Given the description of an element on the screen output the (x, y) to click on. 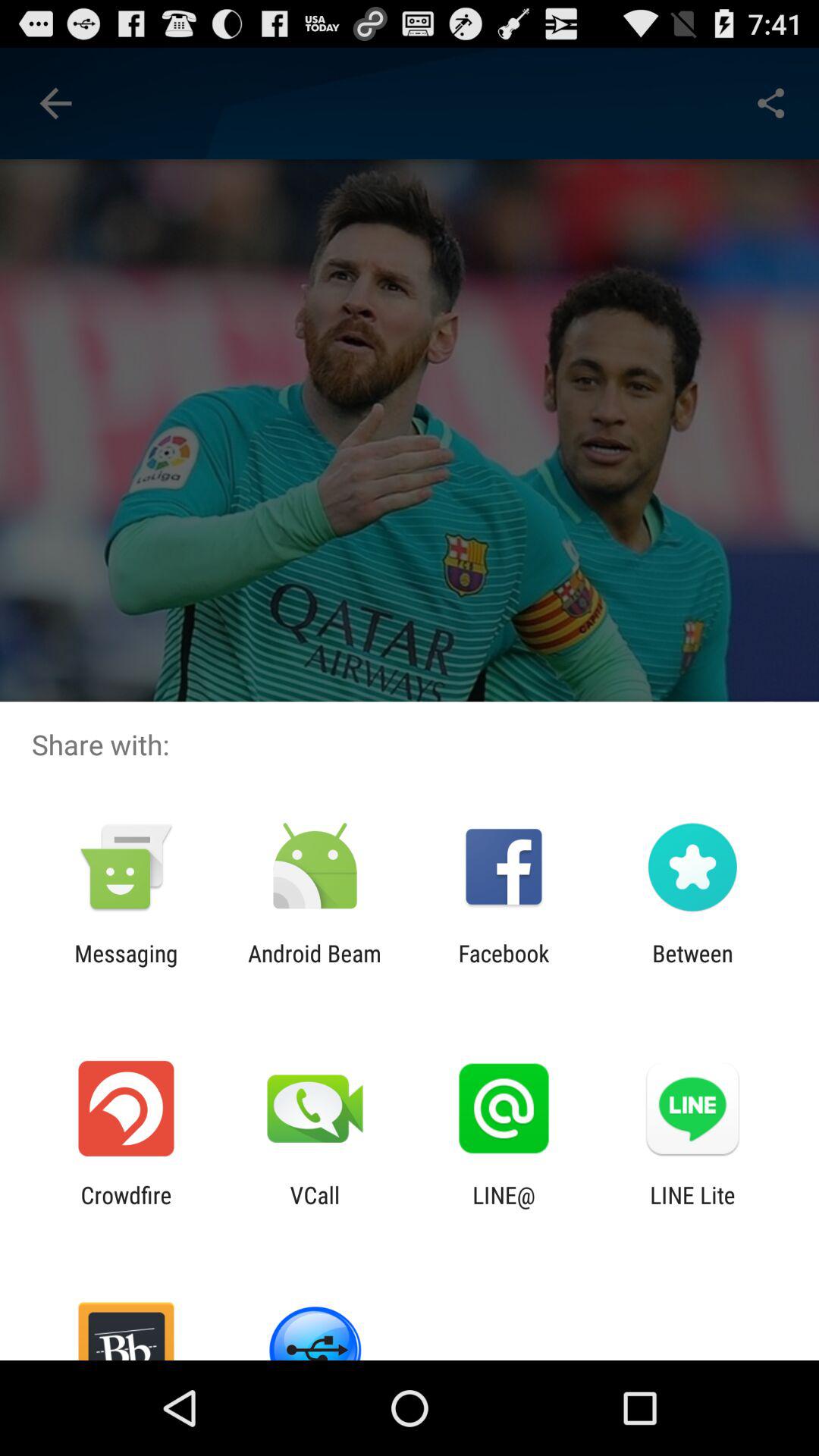
choose item next to the android beam (126, 966)
